Given the description of an element on the screen output the (x, y) to click on. 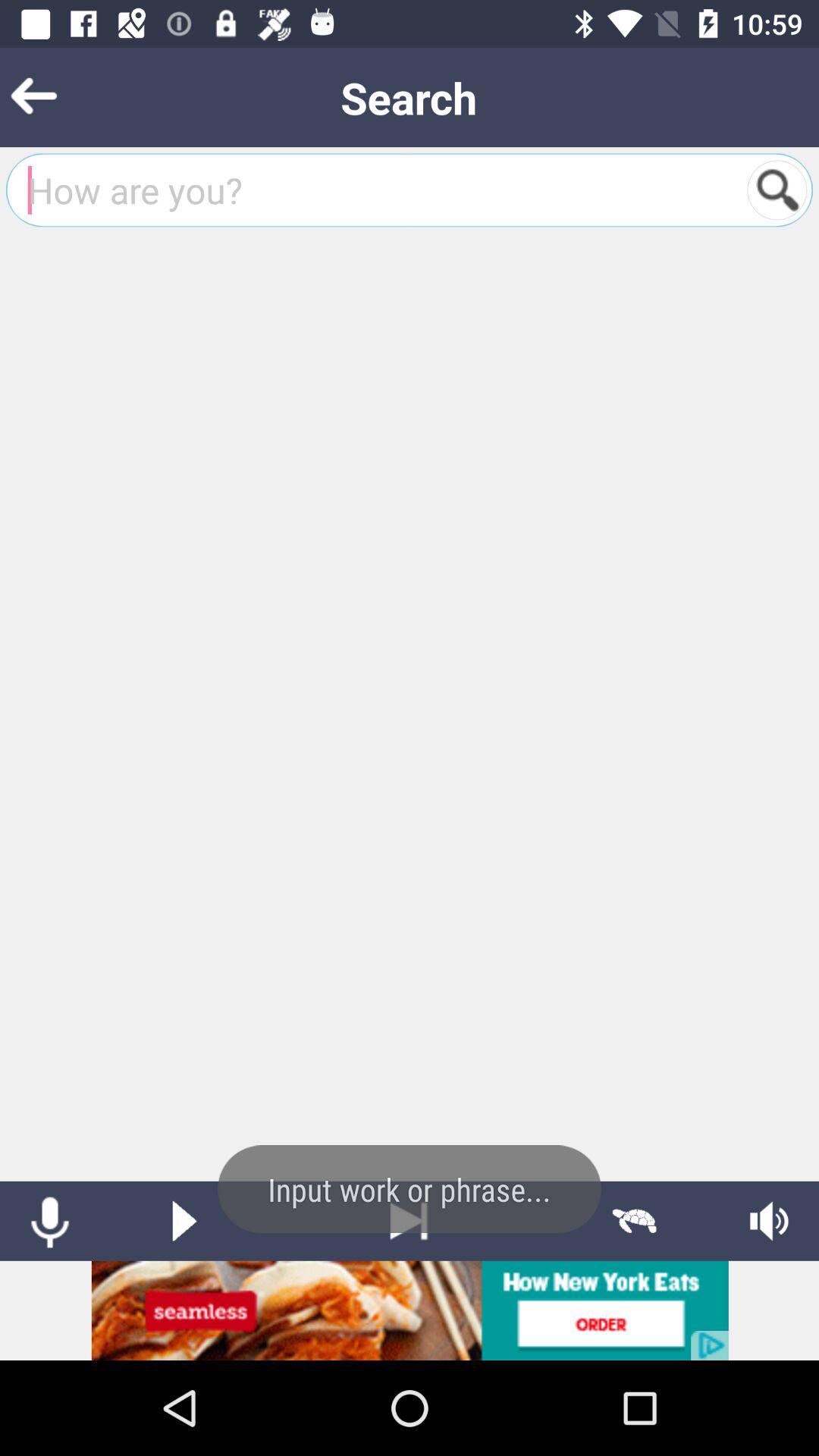
search bar (377, 190)
